Given the description of an element on the screen output the (x, y) to click on. 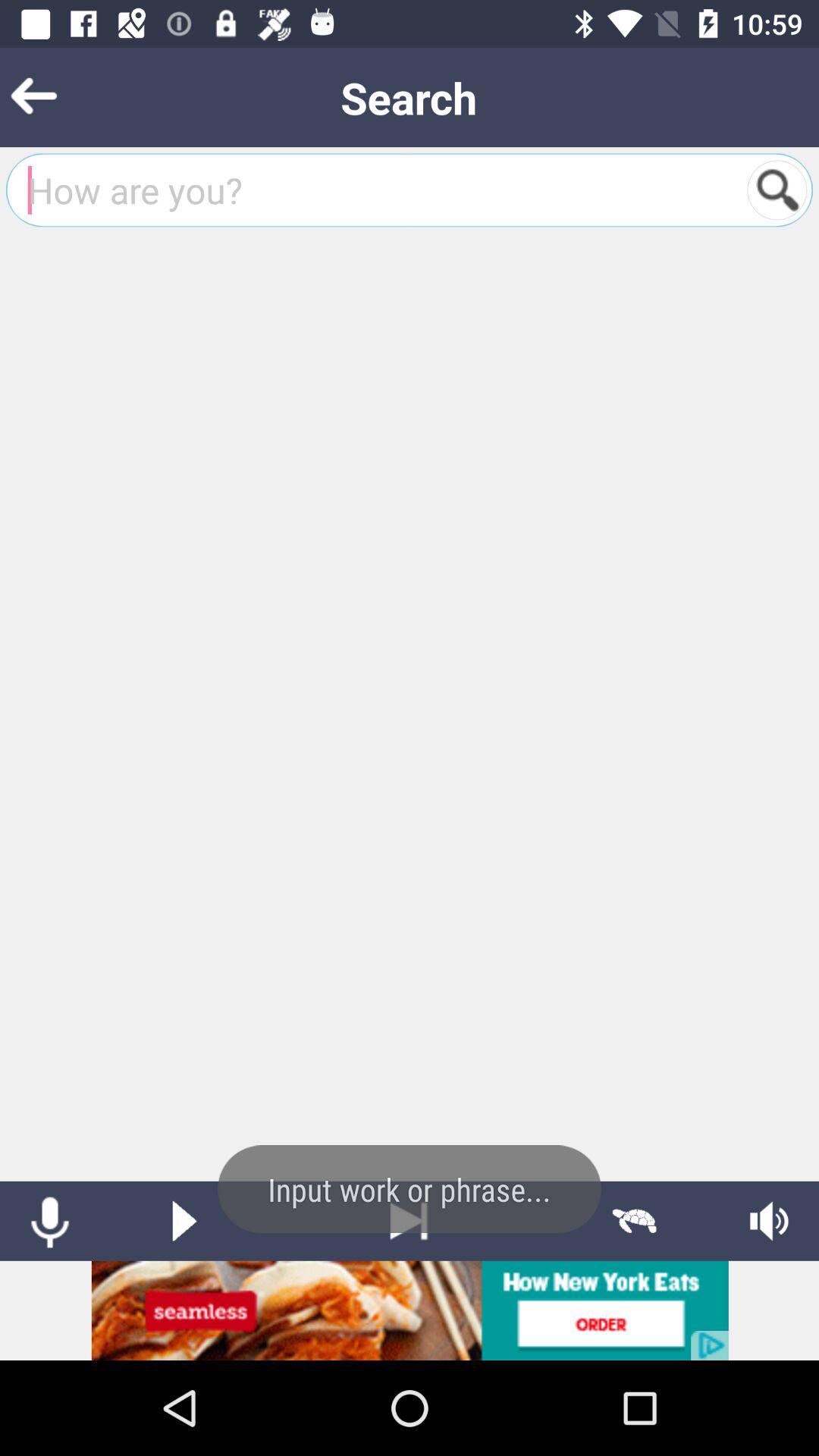
search bar (377, 190)
